Given the description of an element on the screen output the (x, y) to click on. 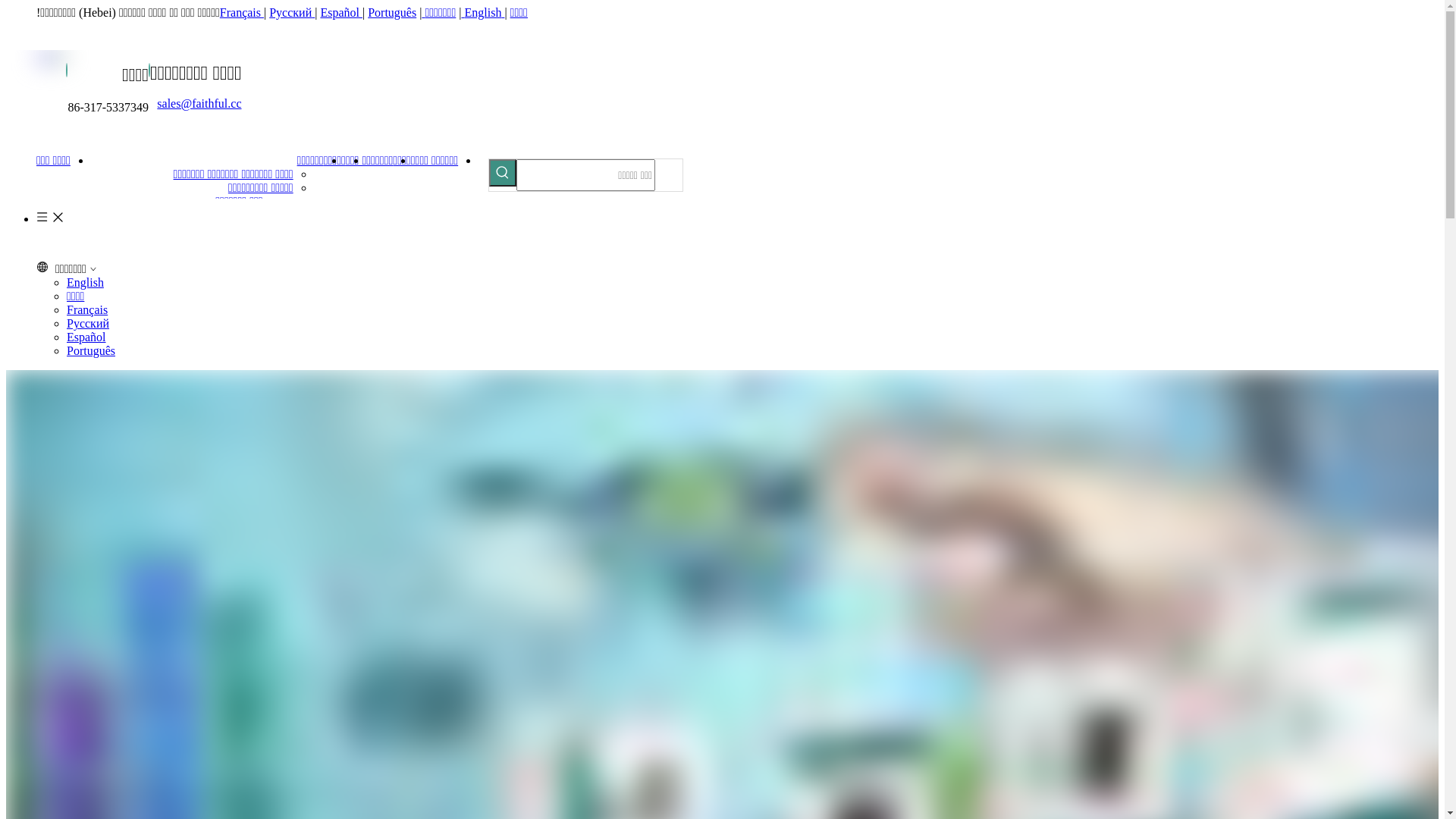
English Element type: text (84, 282)
sales@faithful.cc Element type: text (198, 103)
English Element type: text (484, 12)
